Given the description of an element on the screen output the (x, y) to click on. 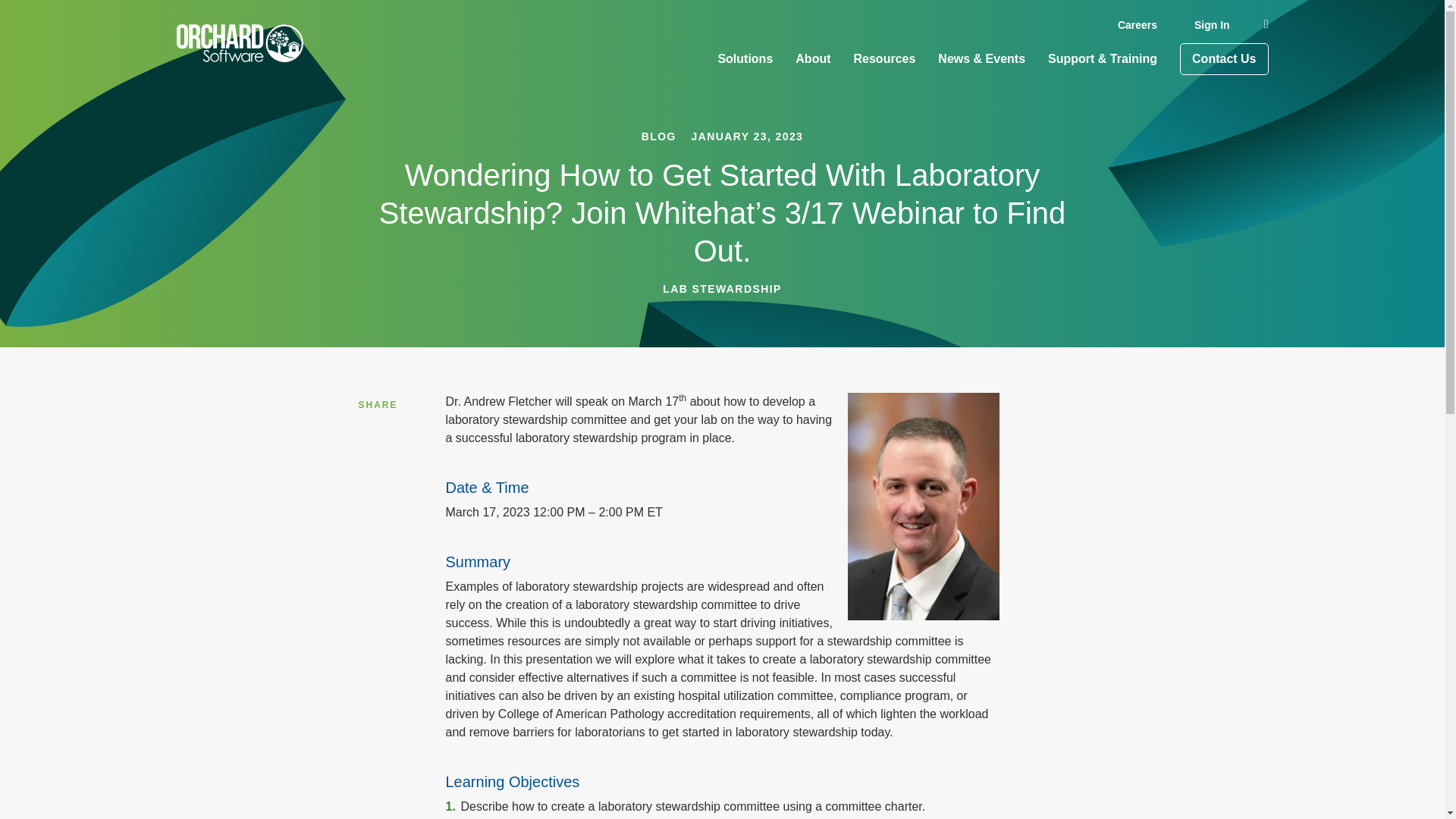
Solutions (745, 59)
About (811, 59)
Careers (1137, 23)
Sign In (1211, 24)
